Given the description of an element on the screen output the (x, y) to click on. 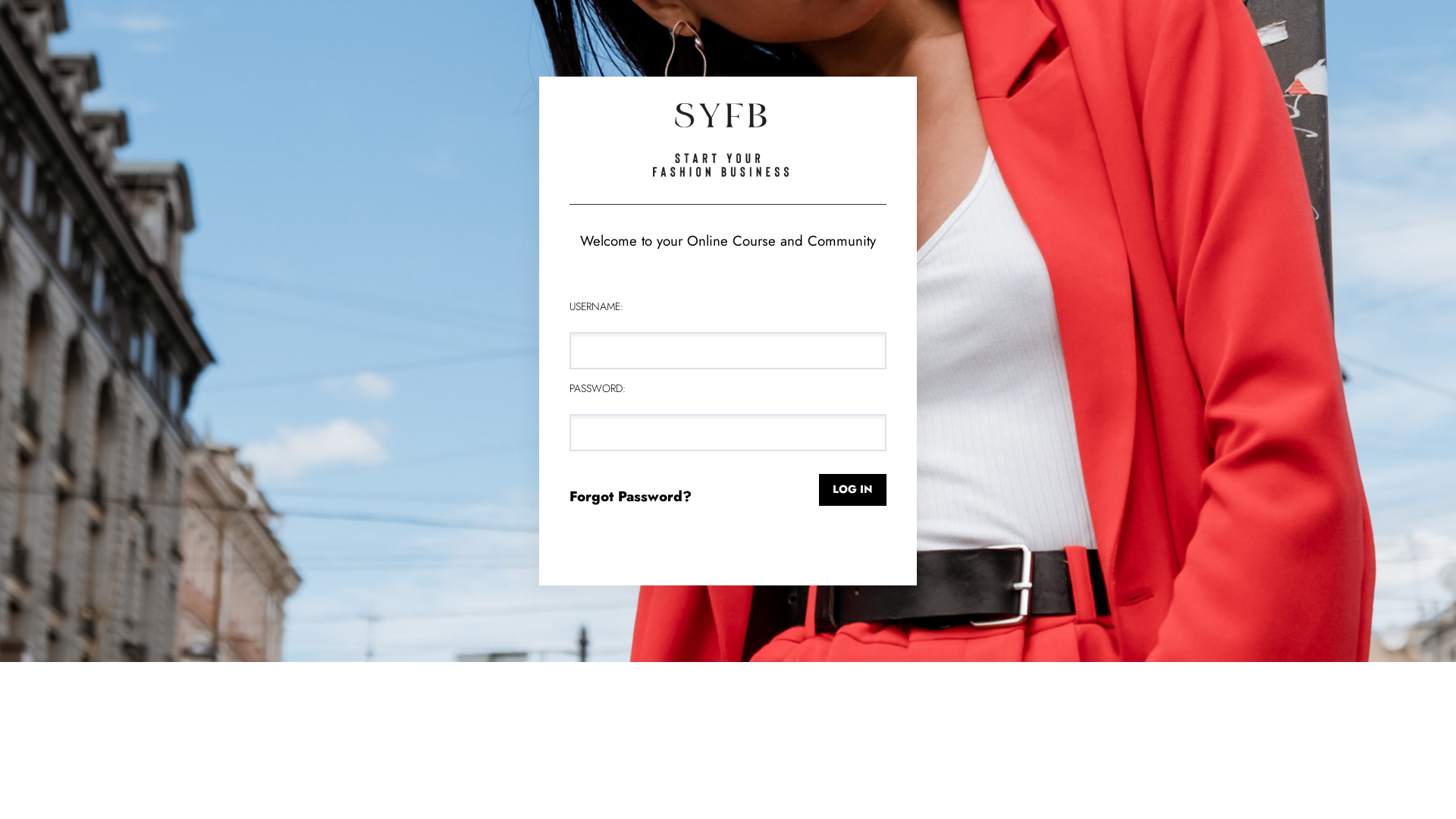
Log In Element type: text (852, 489)
Forgot Password? Element type: text (630, 496)
